Given the description of an element on the screen output the (x, y) to click on. 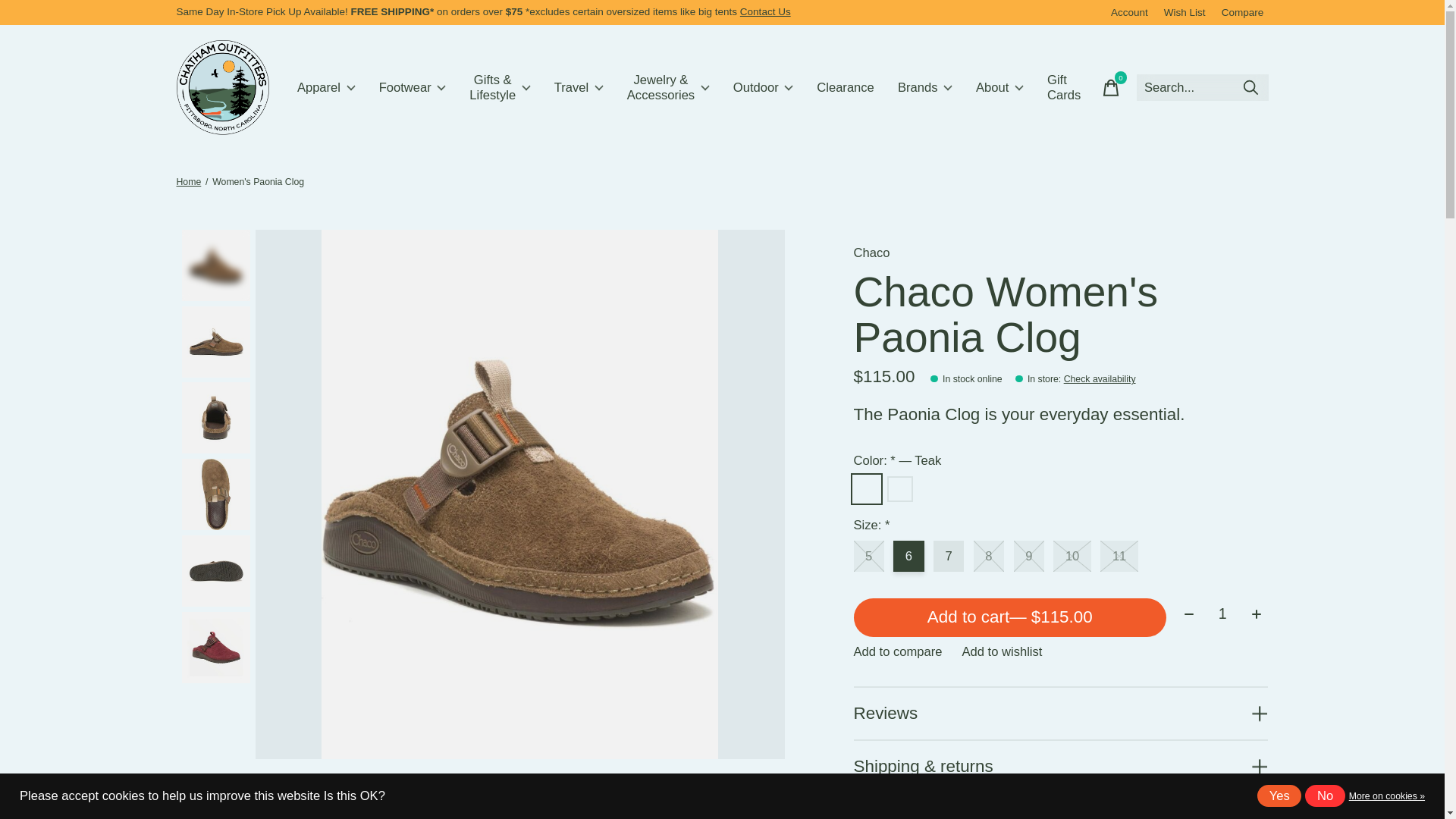
1 (1222, 613)
Compare (1241, 11)
Account (1129, 11)
Wish List (1183, 11)
Contact Us (764, 11)
